Given the description of an element on the screen output the (x, y) to click on. 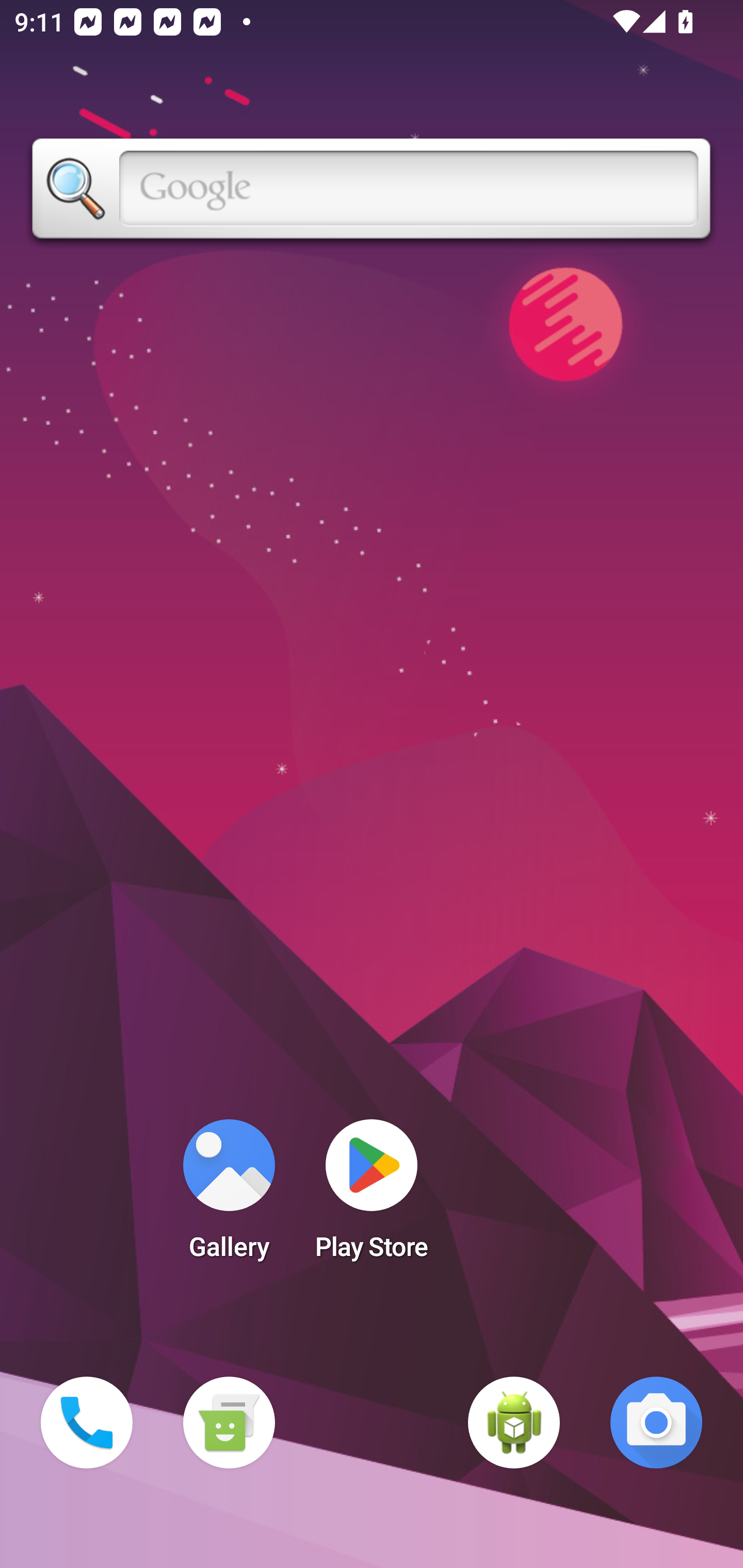
Gallery (228, 1195)
Play Store (371, 1195)
Phone (86, 1422)
Messaging (228, 1422)
WebView Browser Tester (513, 1422)
Camera (656, 1422)
